Given the description of an element on the screen output the (x, y) to click on. 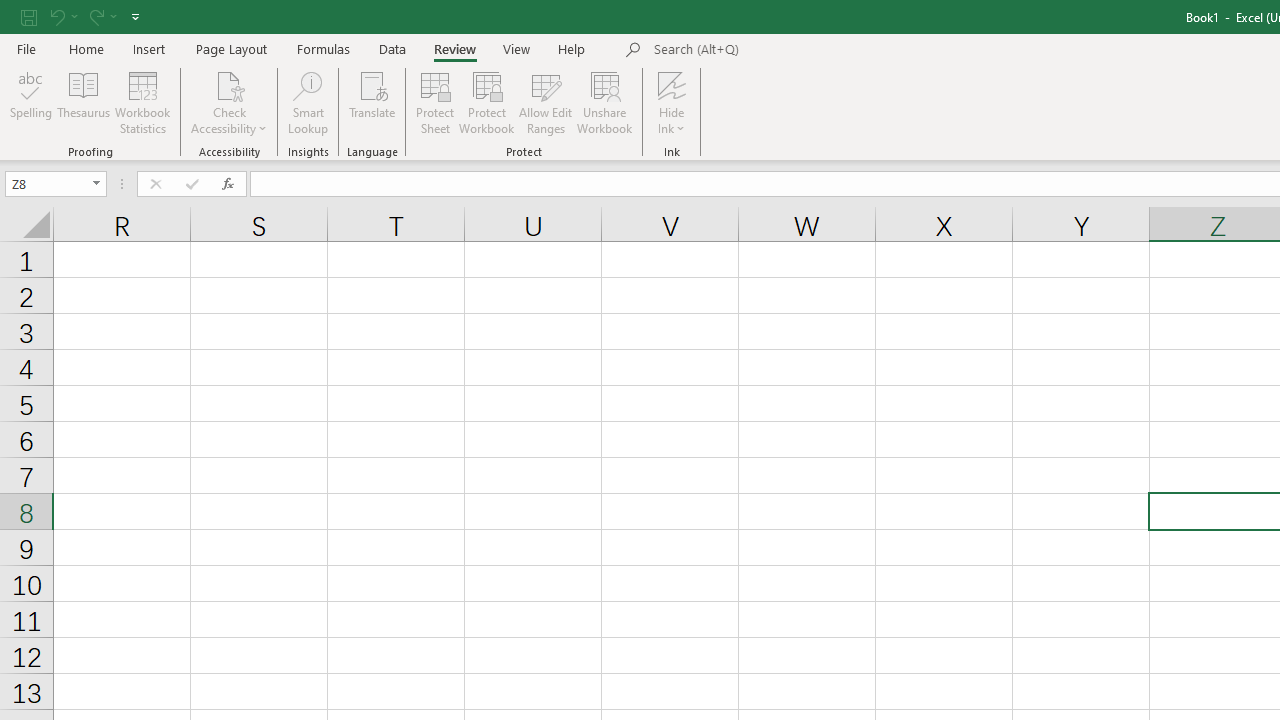
Check Accessibility (229, 102)
Workbook Statistics (142, 102)
Check Accessibility (229, 84)
Thesaurus... (83, 102)
Protect Sheet... (434, 102)
Allow Edit Ranges (545, 102)
